Given the description of an element on the screen output the (x, y) to click on. 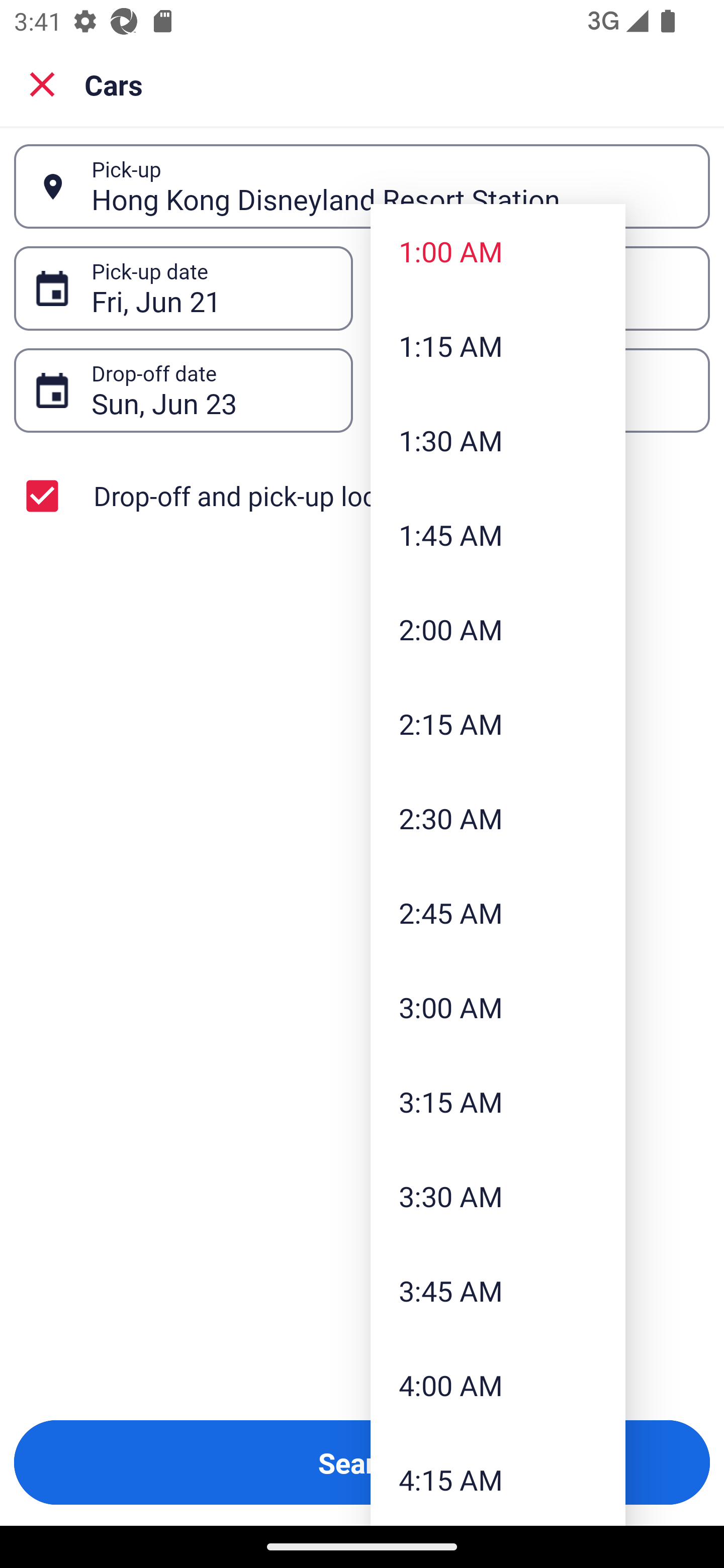
1:00 AM (497, 250)
1:15 AM (497, 345)
1:30 AM (497, 440)
1:45 AM (497, 534)
2:00 AM (497, 628)
2:15 AM (497, 723)
2:30 AM (497, 818)
2:45 AM (497, 912)
3:00 AM (497, 1006)
3:15 AM (497, 1101)
3:30 AM (497, 1196)
3:45 AM (497, 1290)
4:00 AM (497, 1384)
4:15 AM (497, 1478)
